Given the description of an element on the screen output the (x, y) to click on. 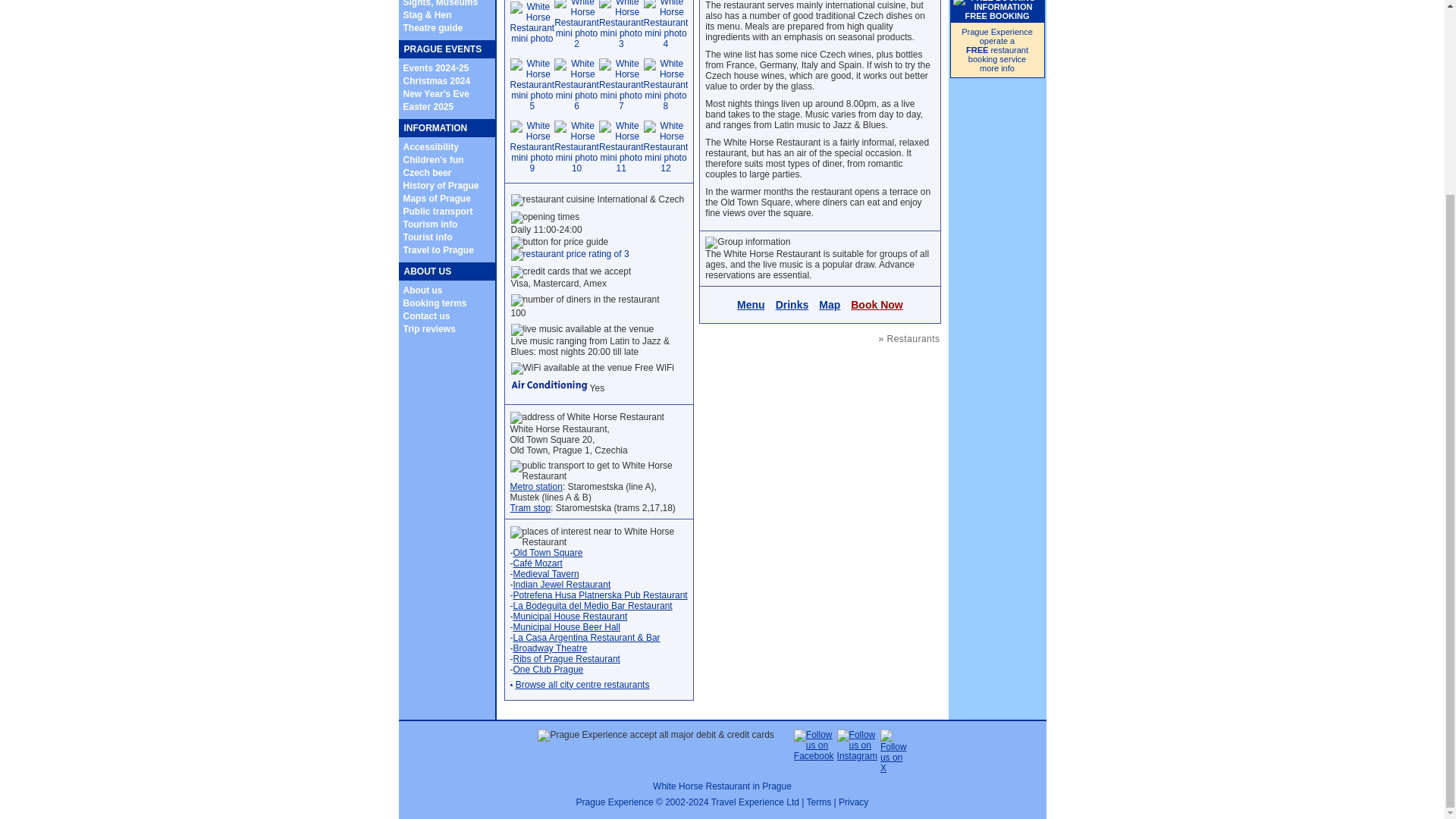
Easter 2025 (428, 106)
Travel to Prague (438, 249)
New Year's Eve (435, 92)
Tourism info (430, 223)
History of Prague (441, 185)
Czech beer (427, 172)
Public transport (438, 211)
Maps of Prague (436, 197)
Trip reviews (429, 327)
Tourist info (427, 236)
Events 2024-25 (435, 67)
Sights, Museums (441, 3)
About us (422, 290)
Booking terms (435, 302)
Christmas 2024 (436, 81)
